Given the description of an element on the screen output the (x, y) to click on. 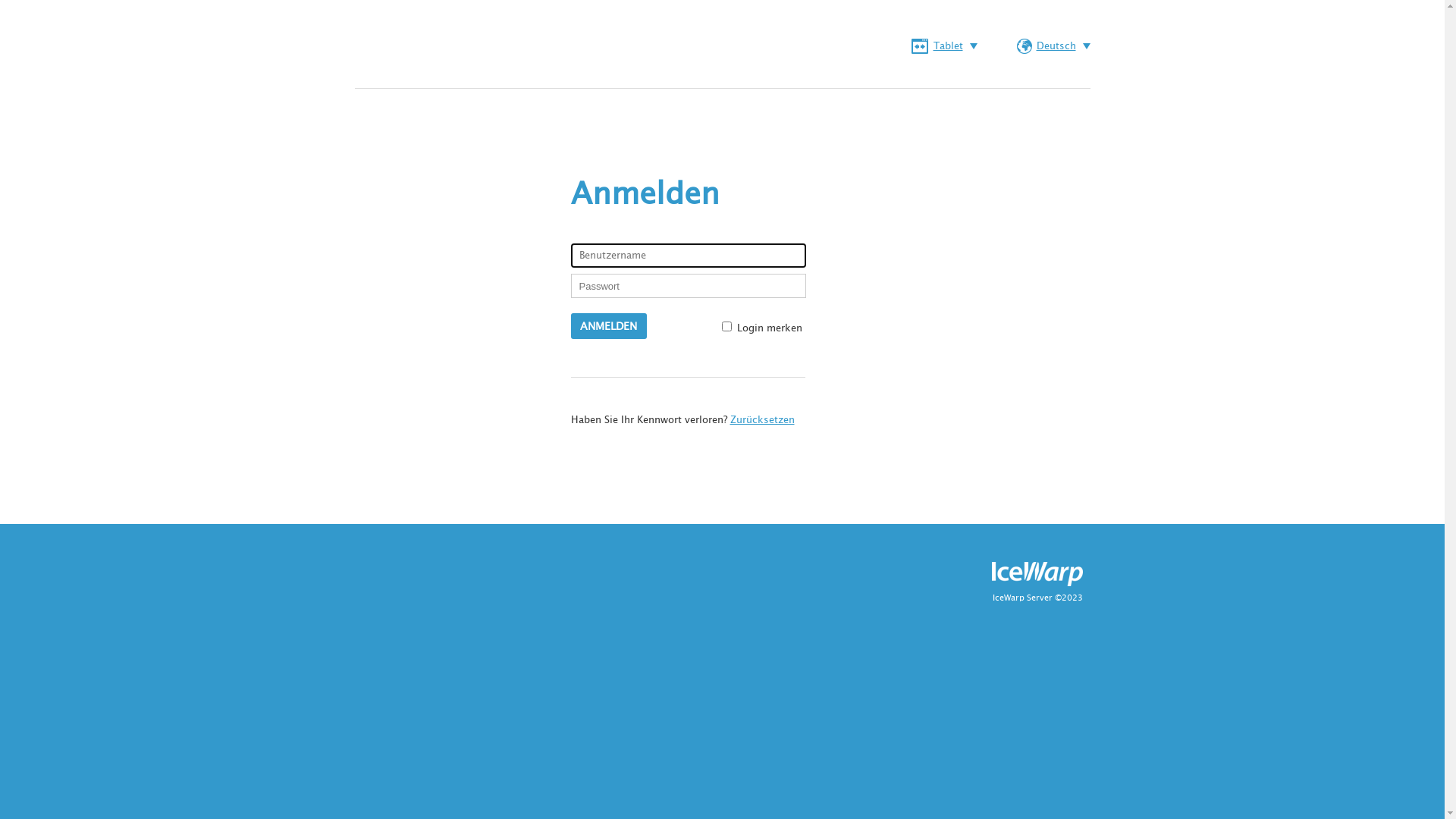
Tablet Element type: text (944, 45)
IceWarp Server Element type: text (1021, 598)
Senden Element type: text (911, 410)
Deutsch Element type: text (1052, 45)
Anmelden Element type: text (608, 325)
IceWarp WebClient Element type: text (415, 50)
